Given the description of an element on the screen output the (x, y) to click on. 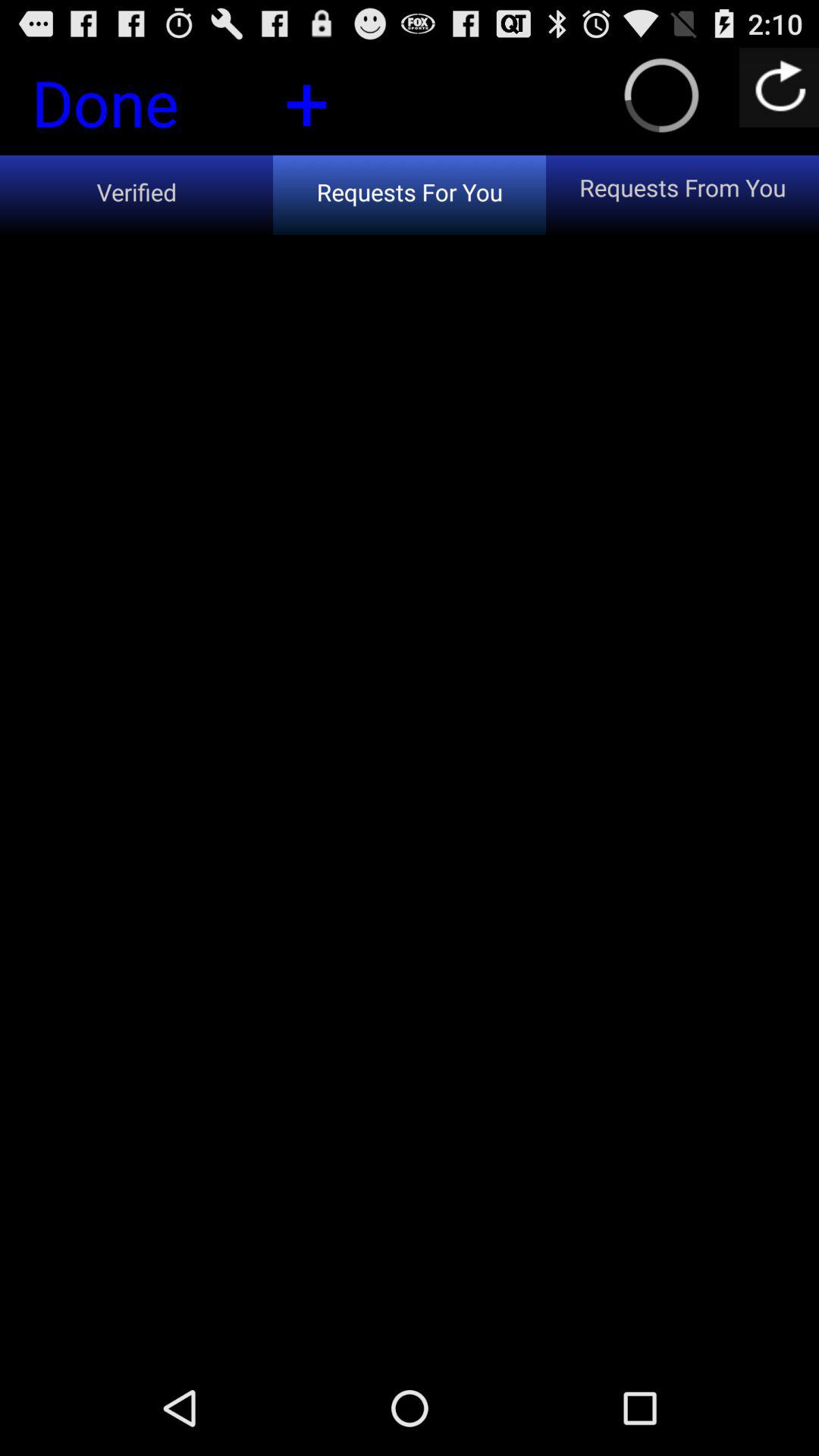
jump until the done (130, 107)
